Given the description of an element on the screen output the (x, y) to click on. 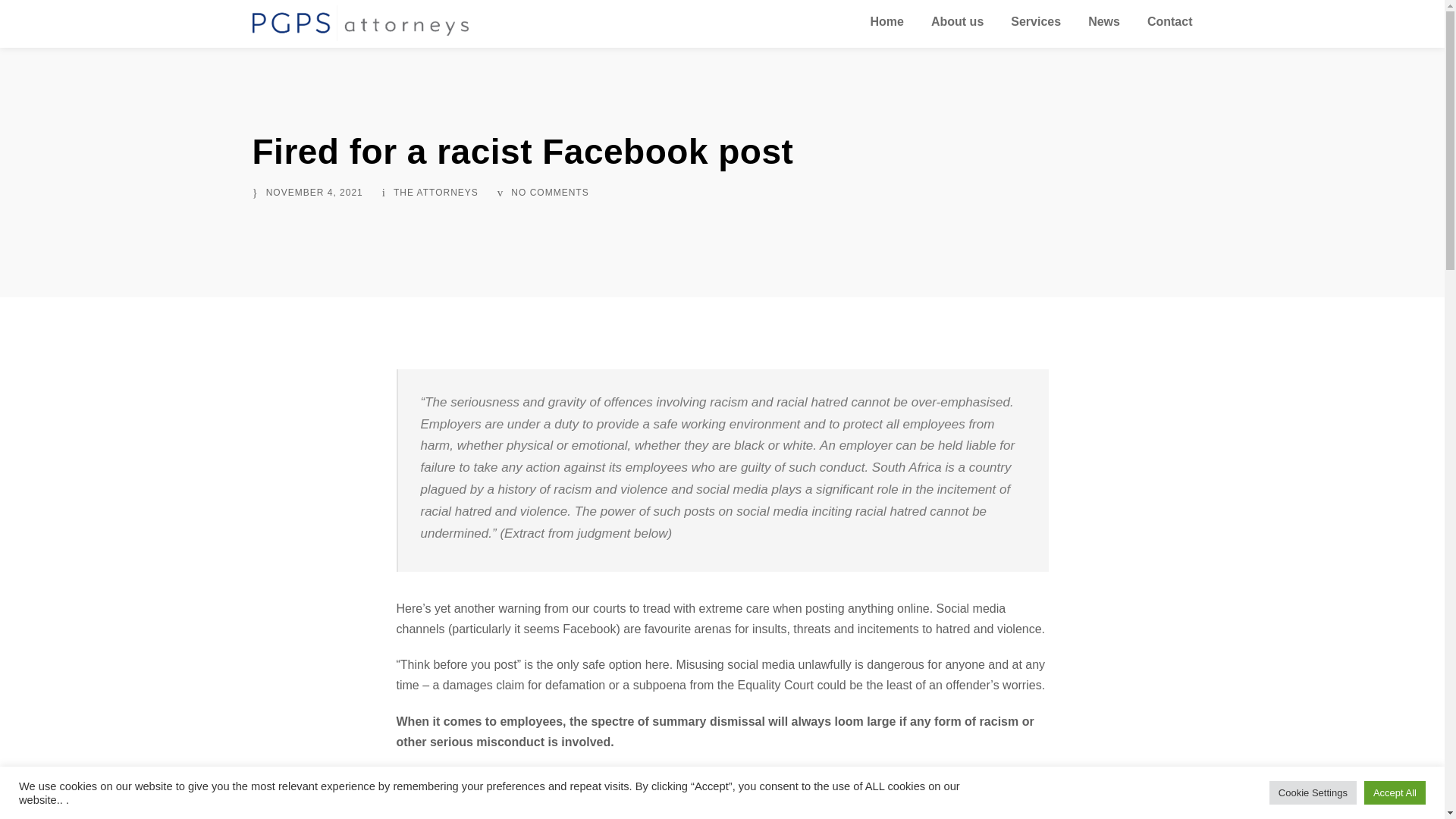
Services (1035, 25)
Posts by The Attorneys (436, 192)
Home (887, 25)
About us (957, 25)
